Given the description of an element on the screen output the (x, y) to click on. 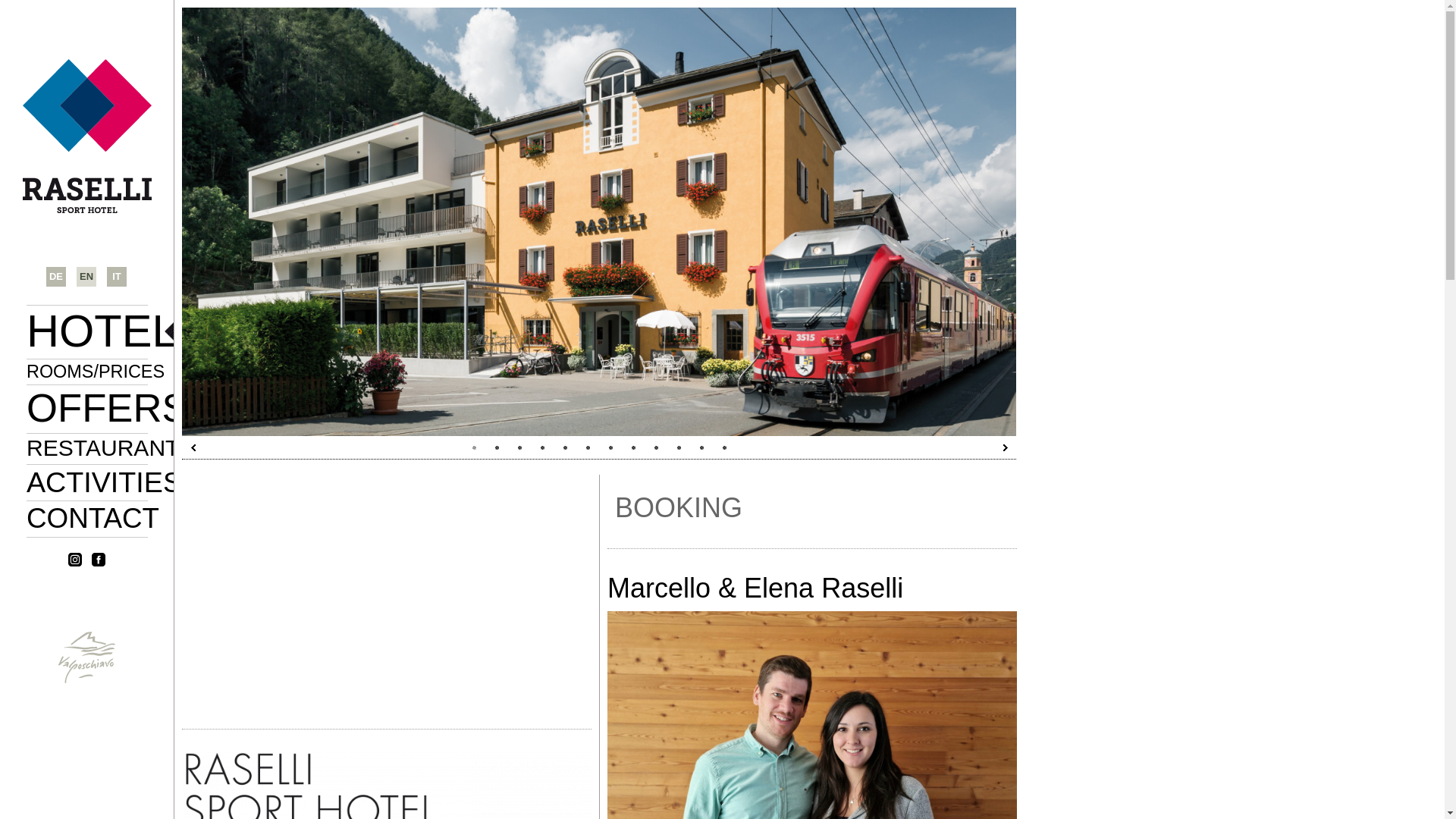
CONTACT (170, 536)
RESTAURANT (229, 468)
EN (86, 276)
ACTIVITIES (191, 499)
OFFERS (149, 419)
DE (55, 276)
HOTEL (127, 339)
